Given the description of an element on the screen output the (x, y) to click on. 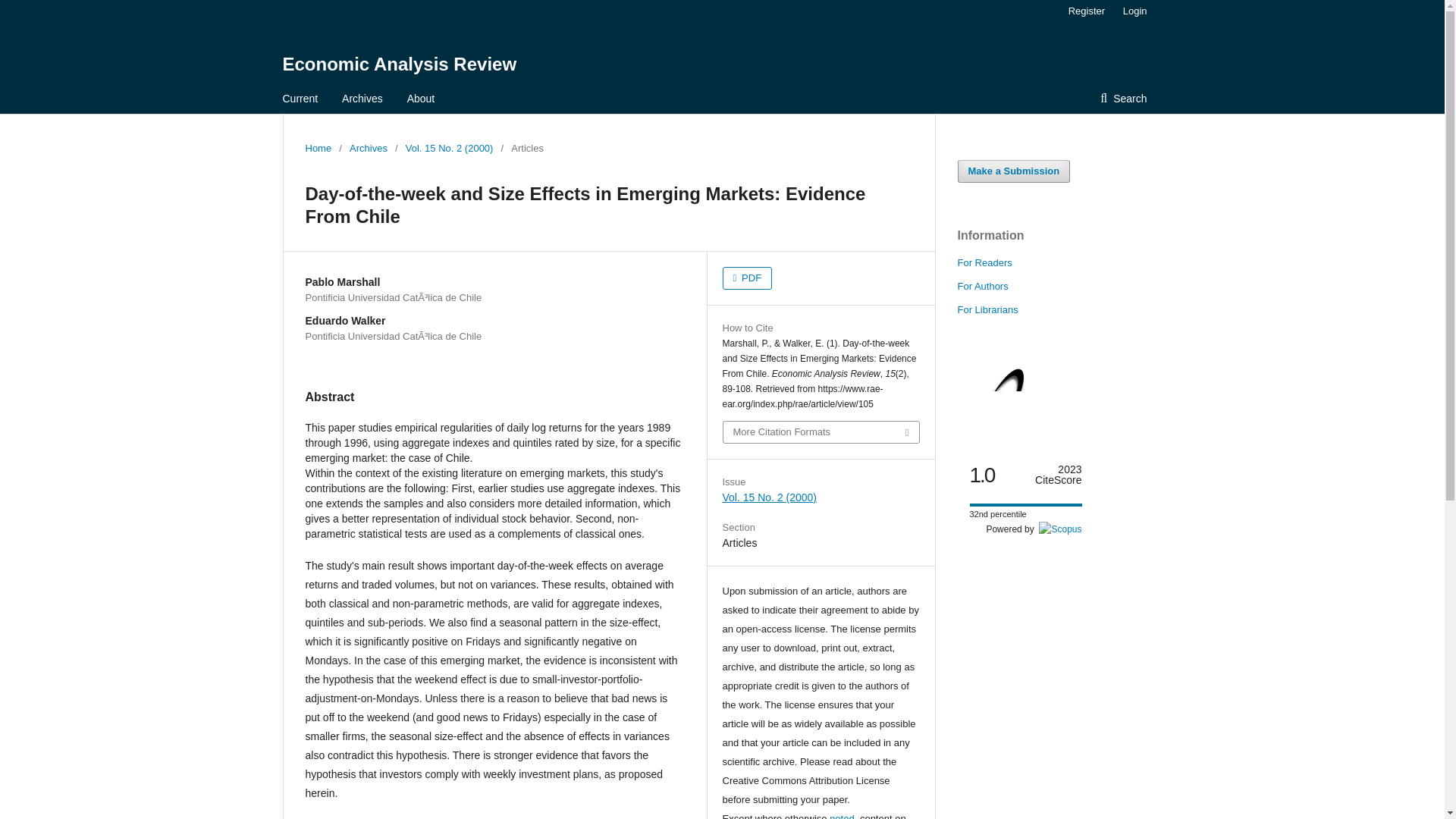
Archives (368, 148)
Archives (362, 98)
About (421, 98)
Current (299, 98)
Home (317, 148)
noted (841, 816)
Search (1122, 98)
Login (1131, 11)
More Citation Formats (820, 432)
PDF (746, 277)
Register (1086, 11)
Economic Analysis Review (399, 64)
